Given the description of an element on the screen output the (x, y) to click on. 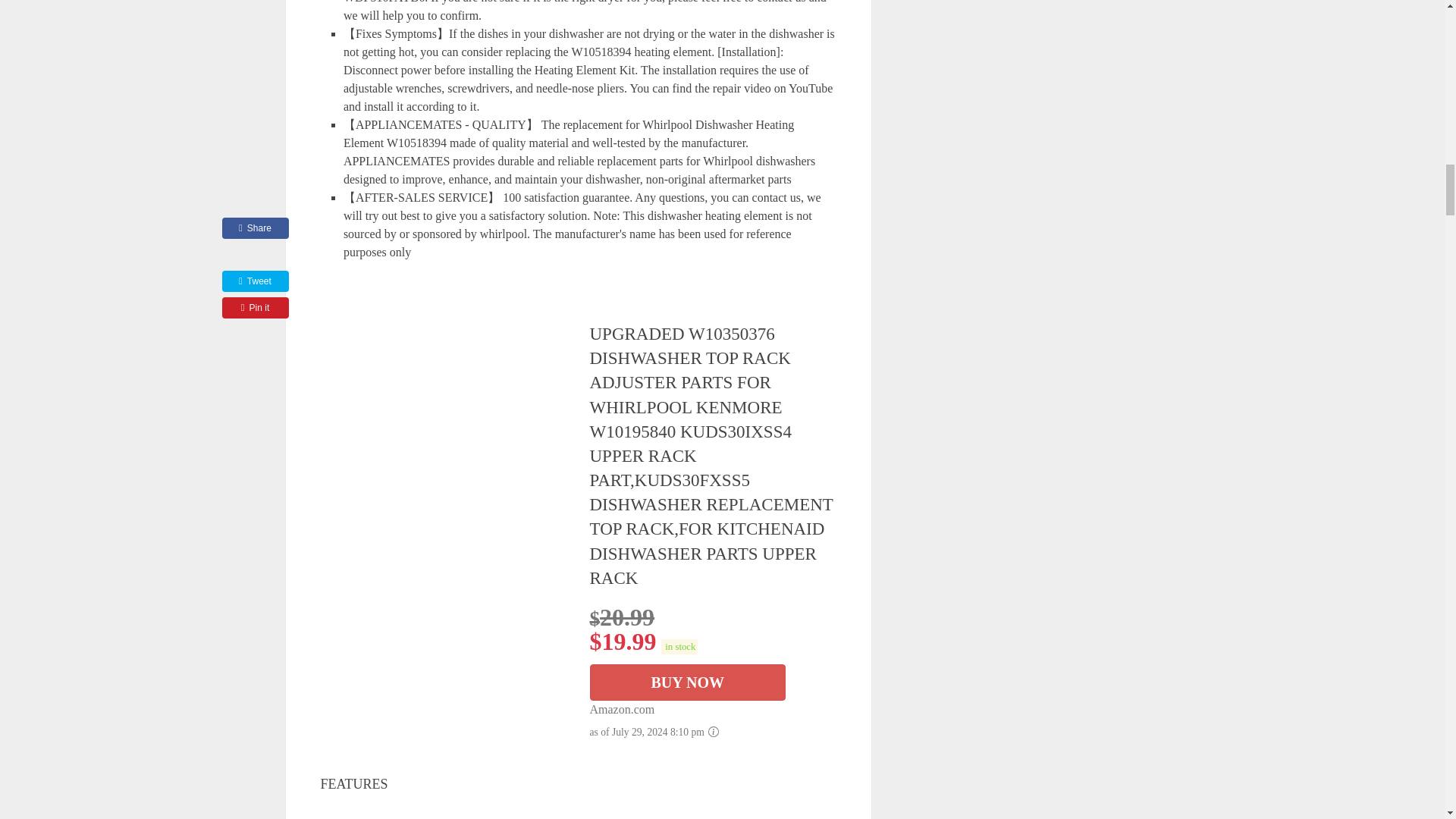
Last updated on July 29, 2024 8:10 pm (679, 646)
